Given the description of an element on the screen output the (x, y) to click on. 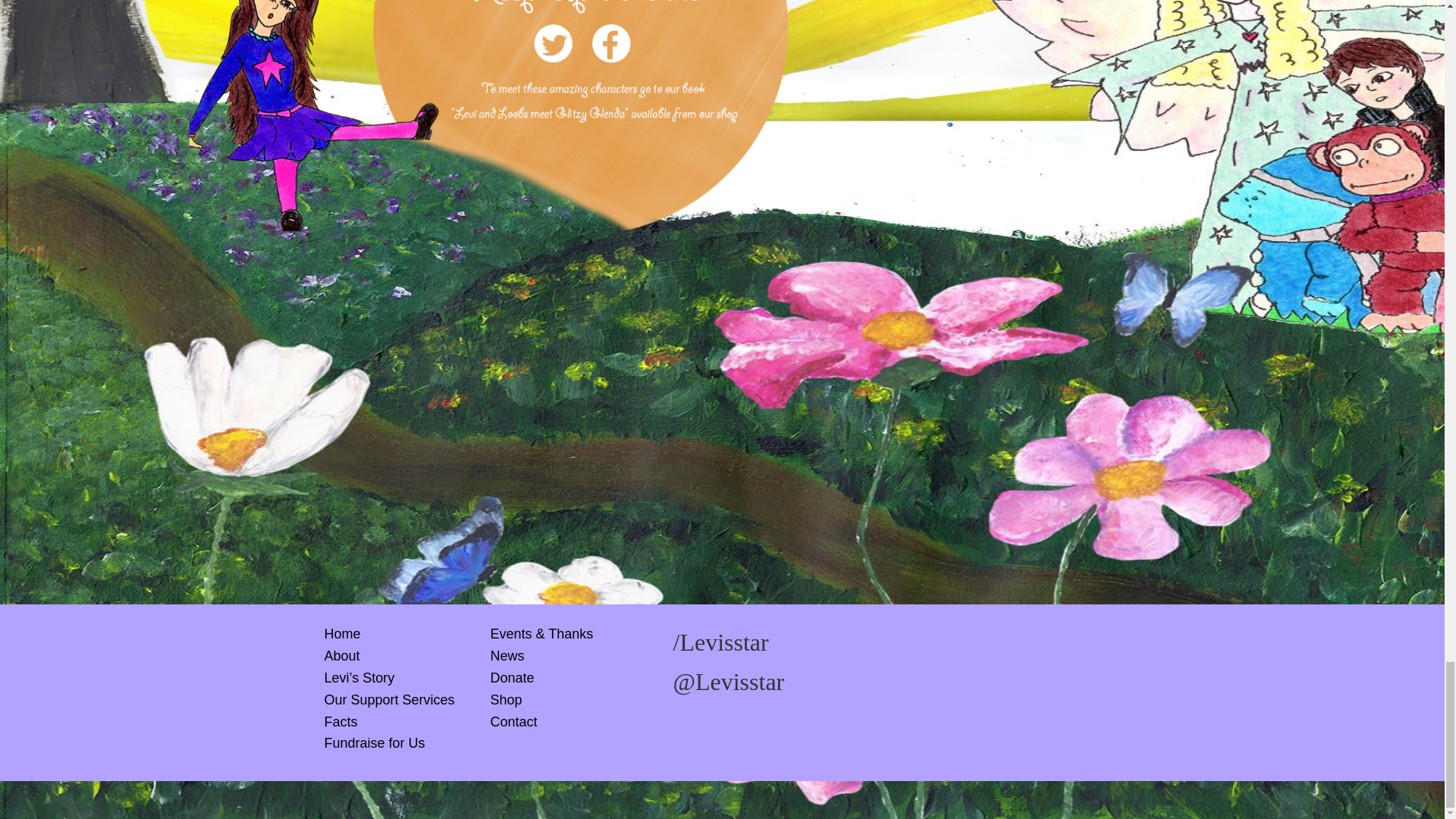
Contact (513, 721)
Shop (505, 699)
Our Support Services (389, 699)
Donate (511, 677)
Home (342, 633)
News (506, 655)
About (341, 655)
Fundraise for Us (374, 743)
Facts (341, 721)
